Given the description of an element on the screen output the (x, y) to click on. 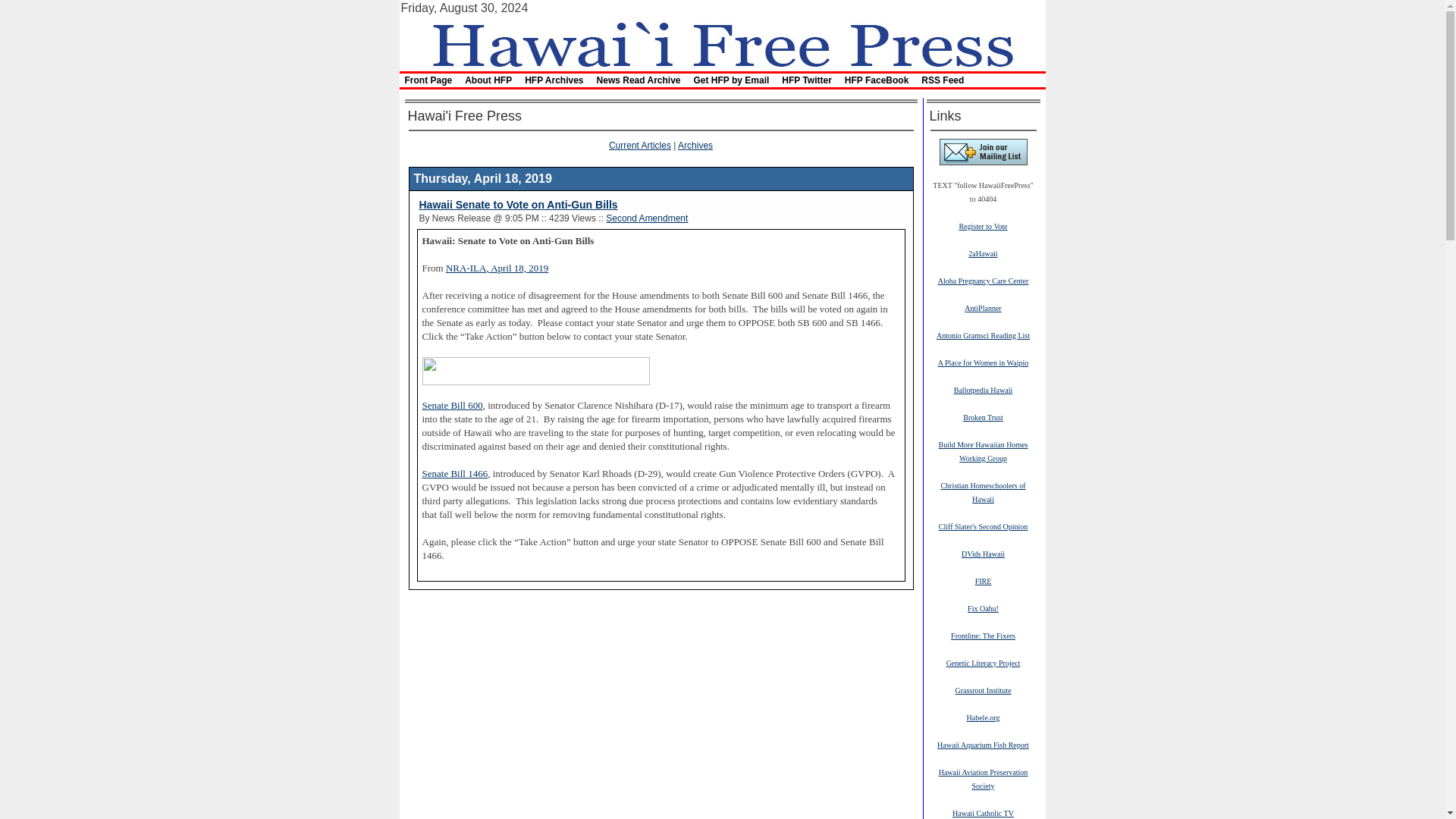
Broken Trust (982, 416)
Current Articles (639, 145)
Ballotpedia Hawaii (982, 389)
Genetic Literacy Project (983, 662)
Second Amendment (646, 217)
Christian Homeschoolers of Hawaii (982, 491)
Register to Vote (982, 225)
NRA-ILA, April 18, 2019 (496, 267)
AntiPlanner (982, 307)
Grassroot Institute (982, 689)
